Given the description of an element on the screen output the (x, y) to click on. 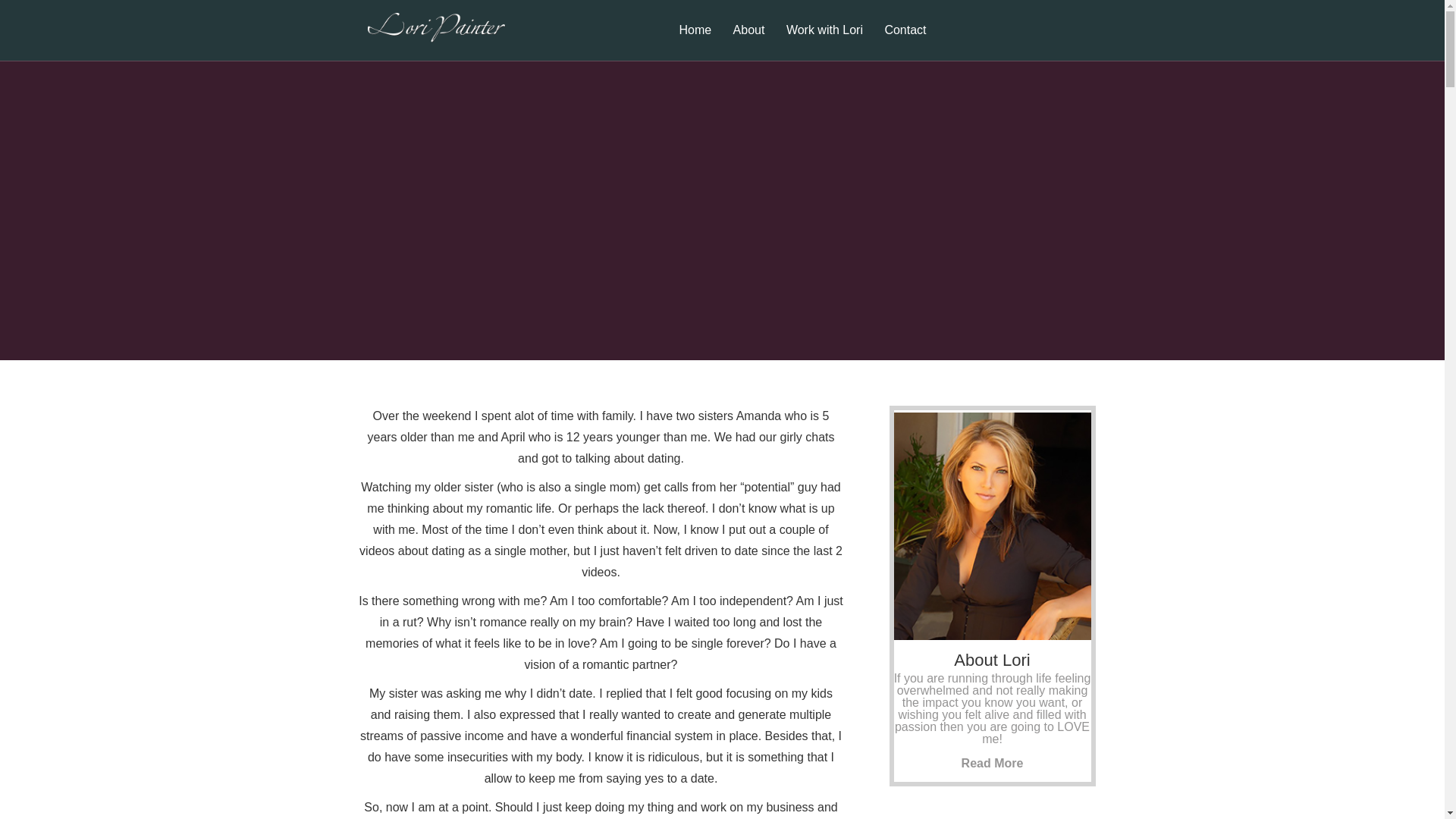
Work with Lori (824, 42)
About (748, 42)
Read More (991, 762)
Contact (904, 42)
Home (694, 42)
